Given the description of an element on the screen output the (x, y) to click on. 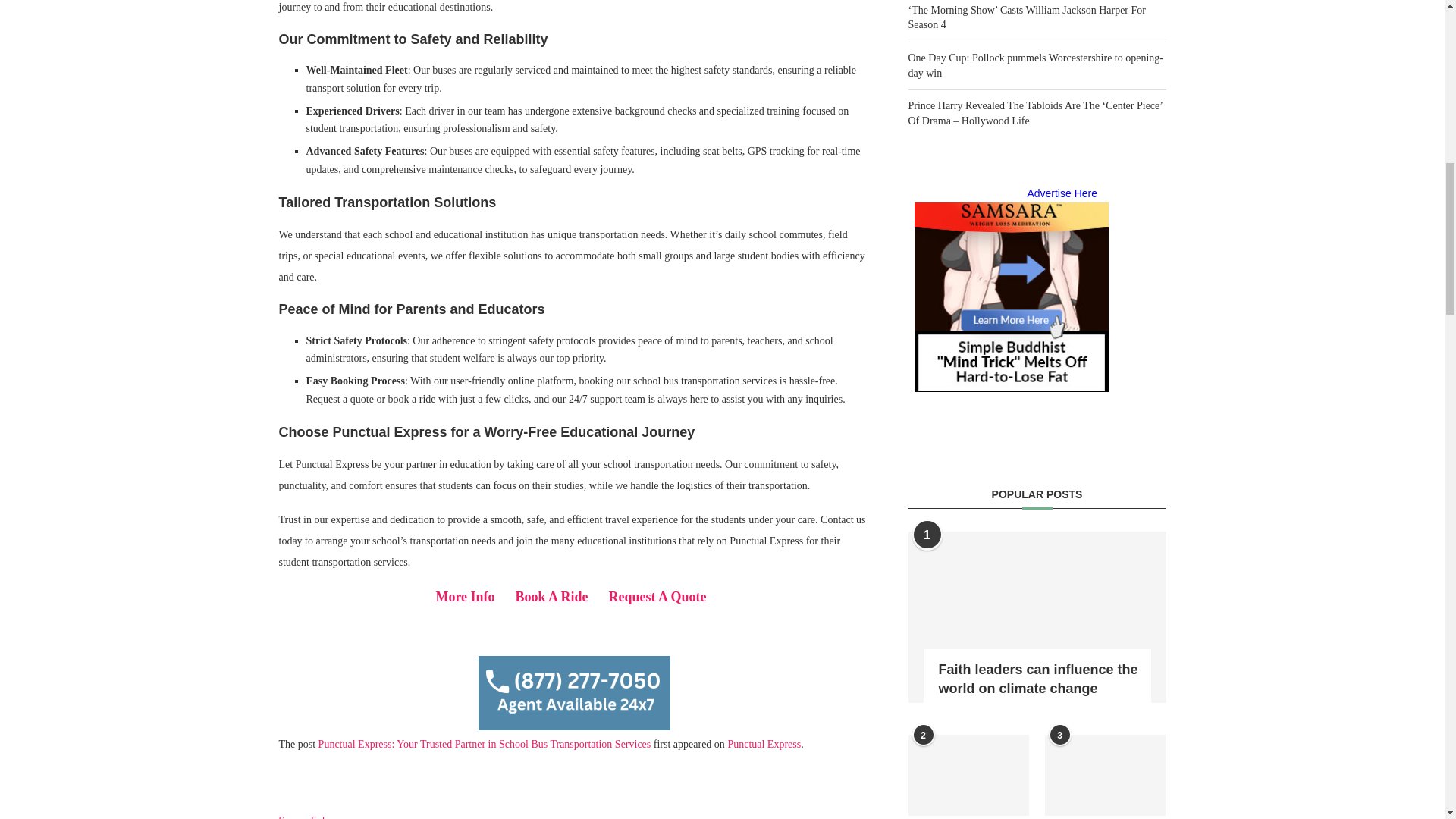
Agent 24x7 (574, 693)
Request A Quote (660, 597)
More Info (465, 597)
Book A Ride (551, 597)
